Given the description of an element on the screen output the (x, y) to click on. 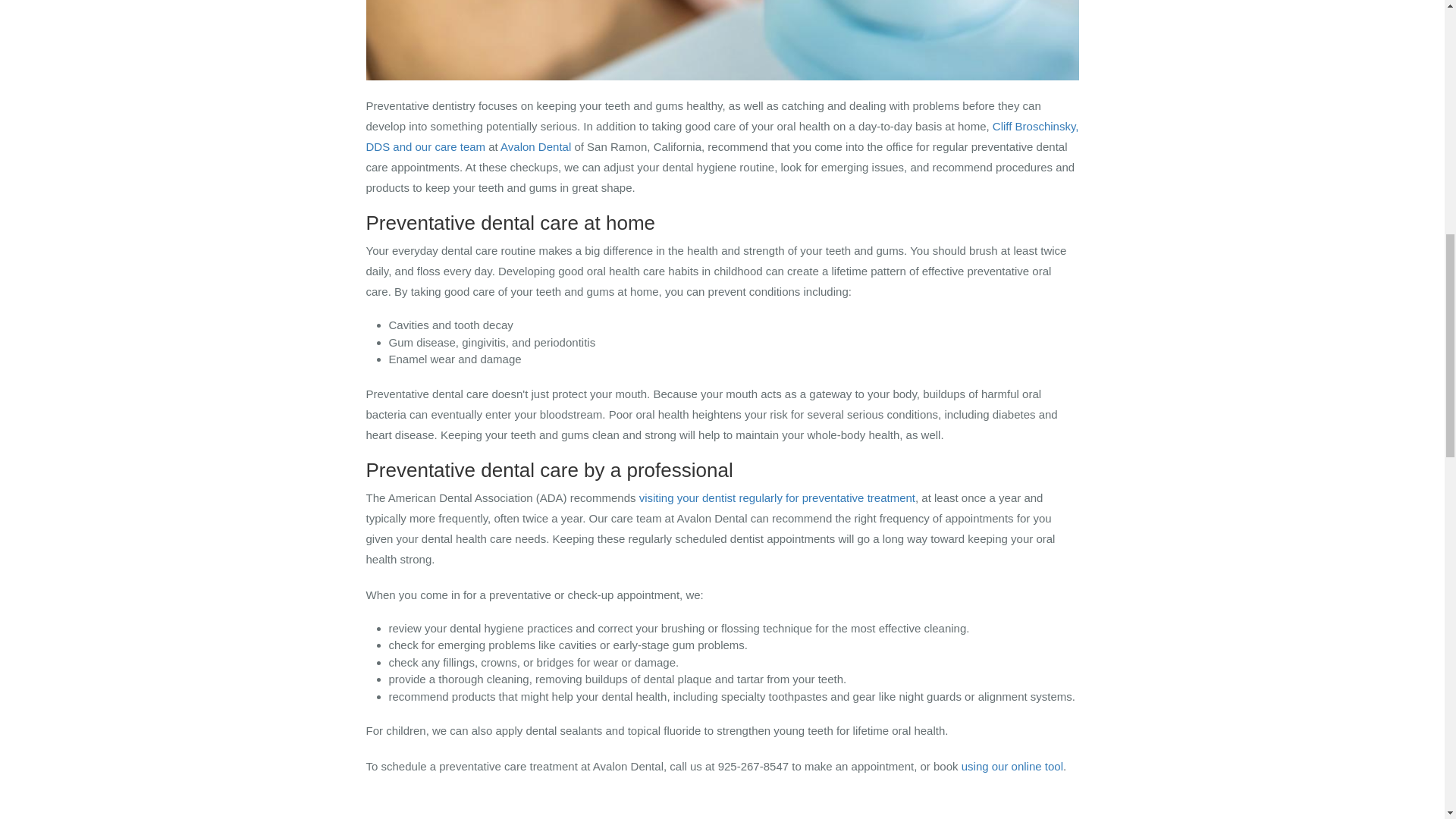
using our online tool (1011, 766)
Avalon Dental (535, 146)
Cliff Broschinsky, DDS and our care team (721, 136)
visiting your dentist regularly for preventative treatment (777, 497)
